Given the description of an element on the screen output the (x, y) to click on. 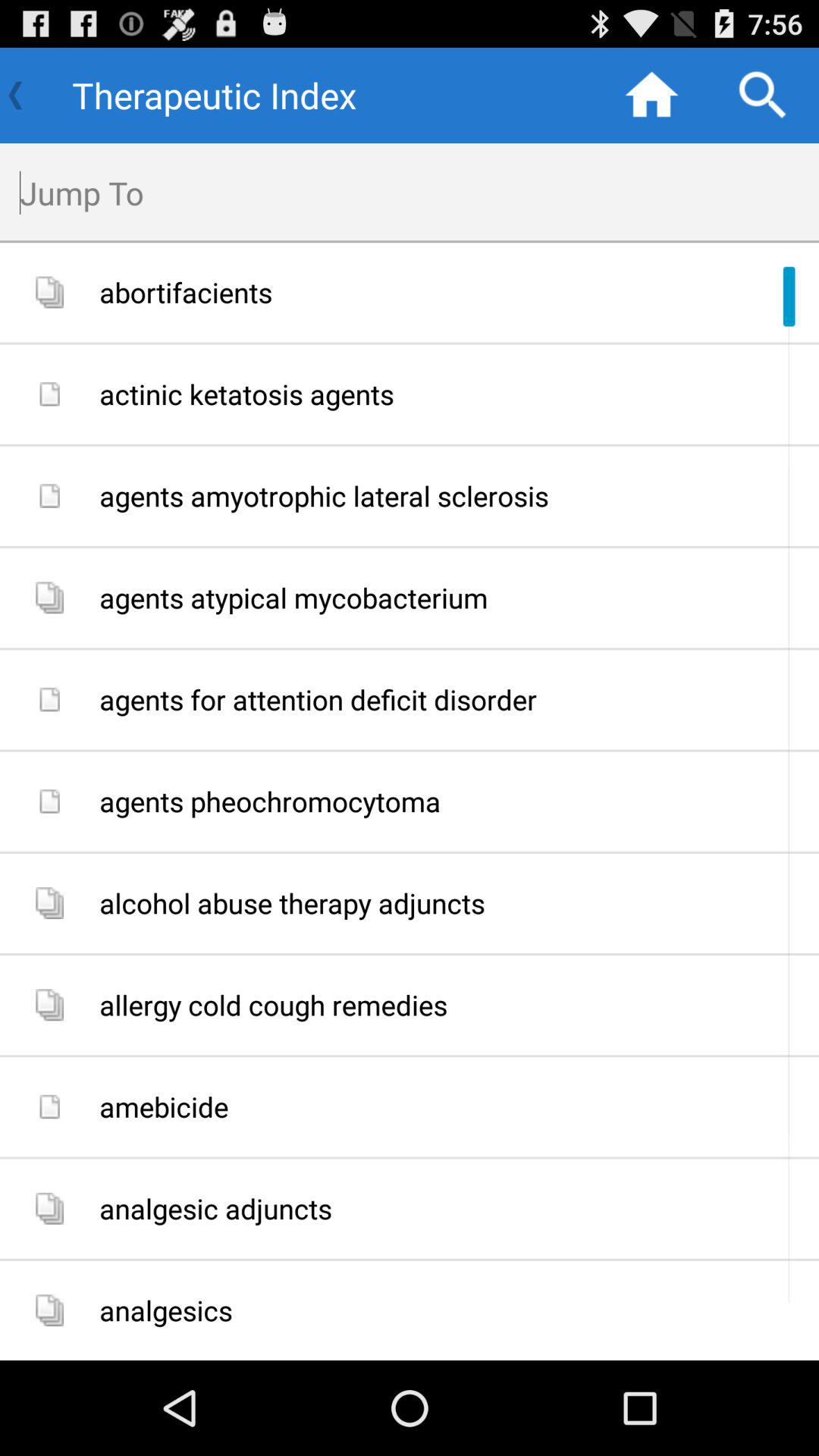
open the app above the alcohol abuse therapy app (453, 801)
